Given the description of an element on the screen output the (x, y) to click on. 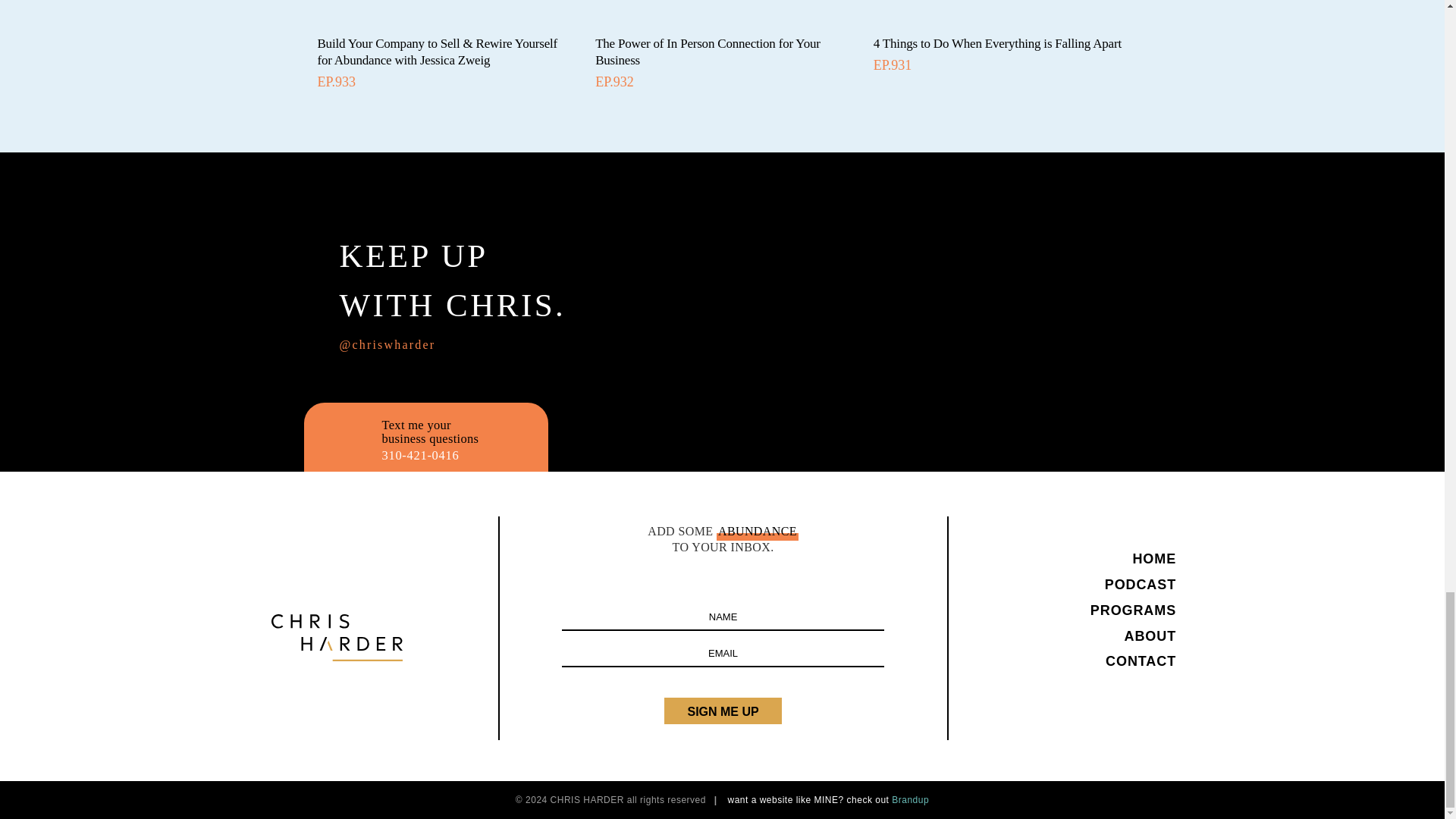
The Power of In Person Connection for Your Business (708, 51)
4 Things to Do When Everything is Falling Apart (997, 43)
Sign me up (721, 710)
